Given the description of an element on the screen output the (x, y) to click on. 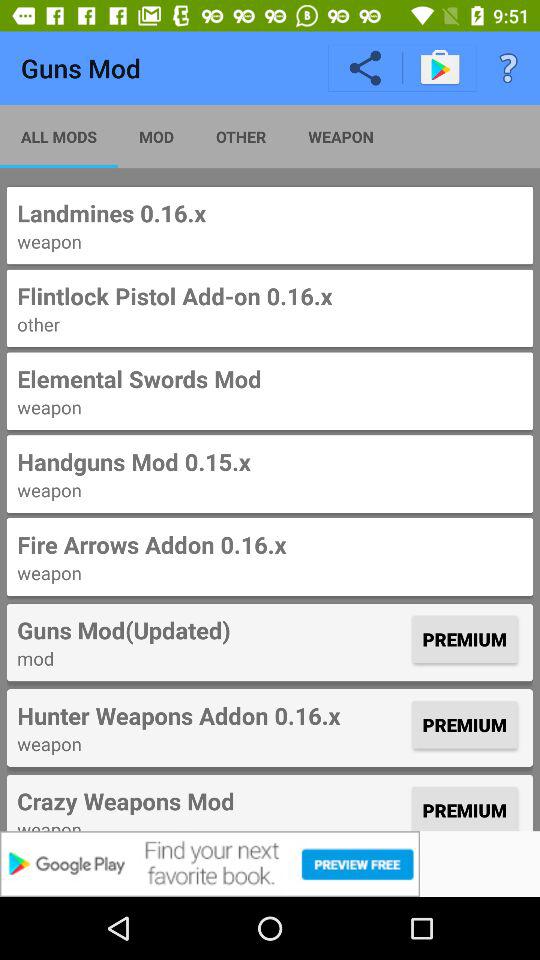
click to the app (270, 864)
